Given the description of an element on the screen output the (x, y) to click on. 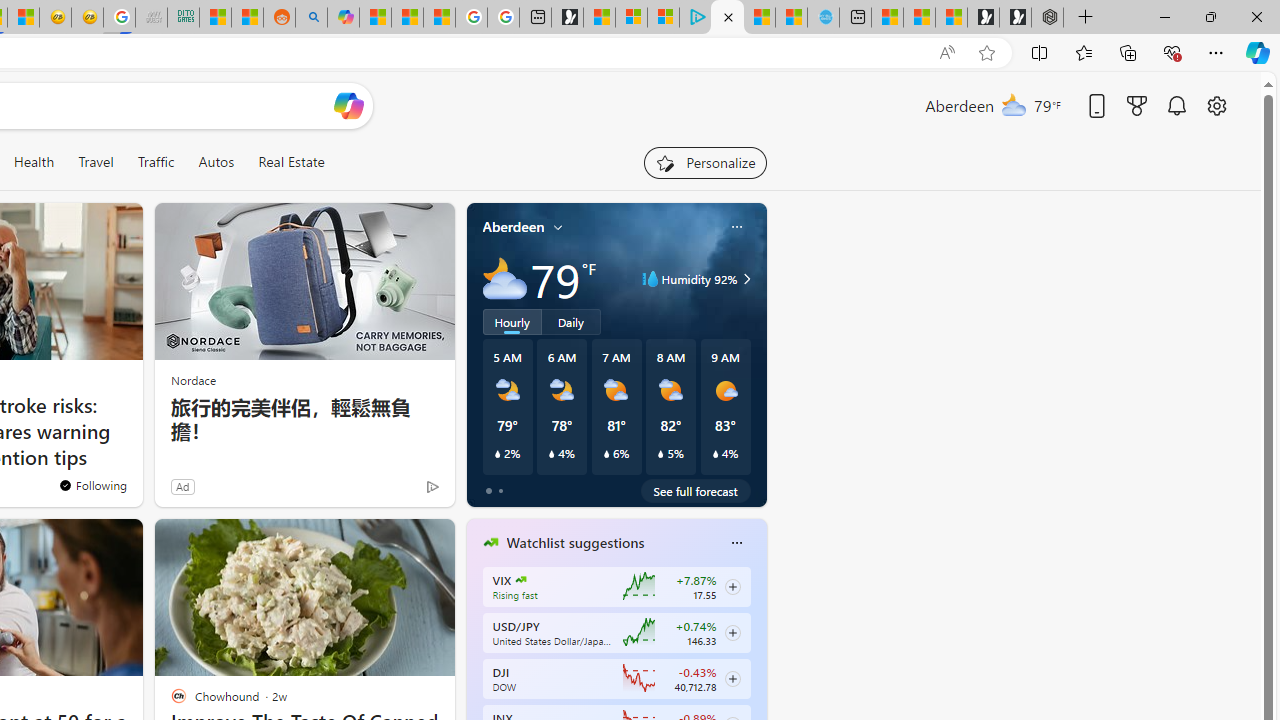
Humidity 92% (744, 278)
next (756, 670)
Aberdeen (513, 227)
